Given the description of an element on the screen output the (x, y) to click on. 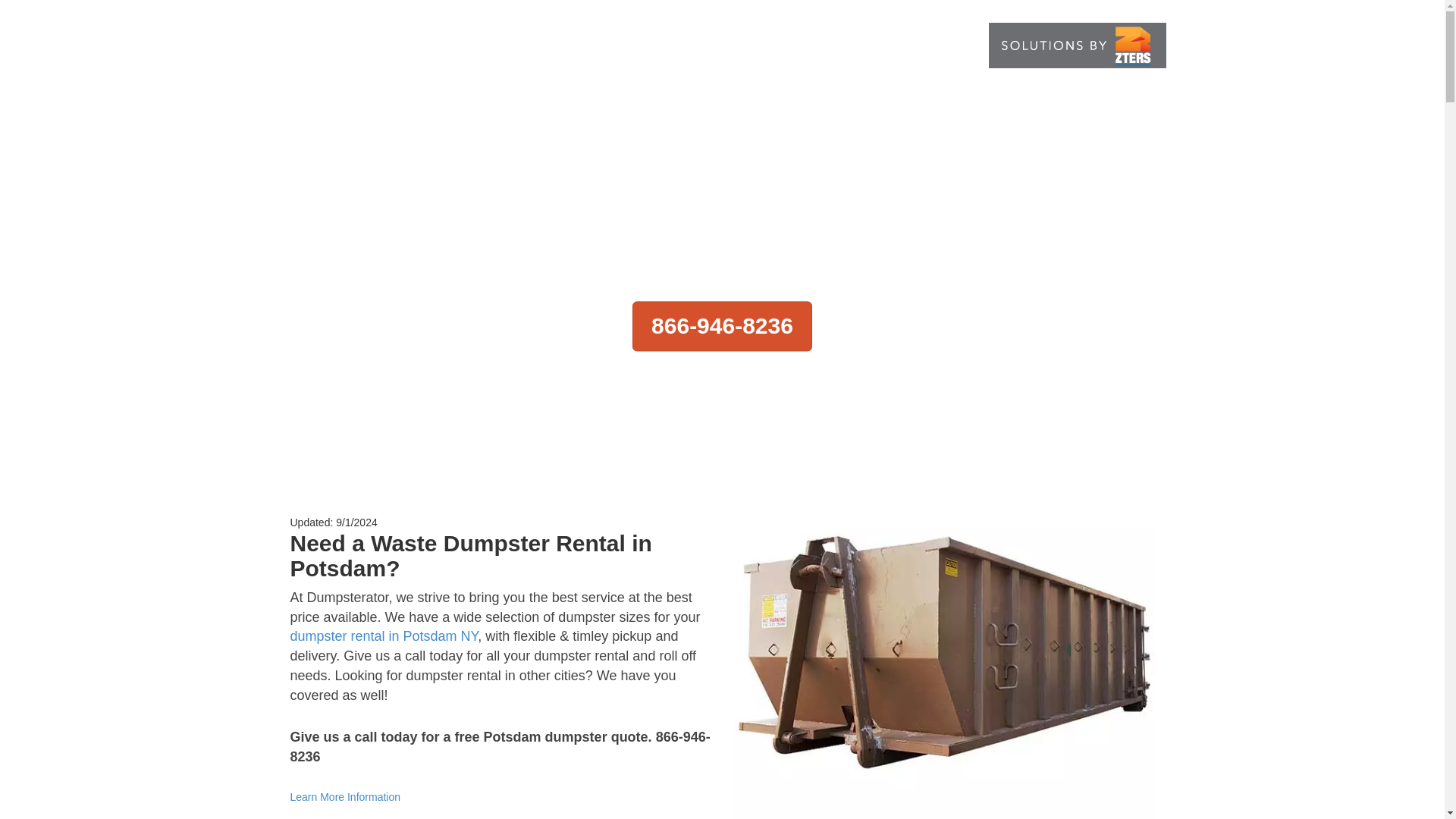
HOME (600, 44)
CONTACT (951, 44)
dumpster rental in Potsdam NY (383, 635)
Learn More Information (344, 797)
866-946-8236 (337, 41)
866-946-8236 (721, 327)
ABOUT (657, 44)
MORE INFORMATION (848, 44)
AVAILABILITY (735, 44)
